Given the description of an element on the screen output the (x, y) to click on. 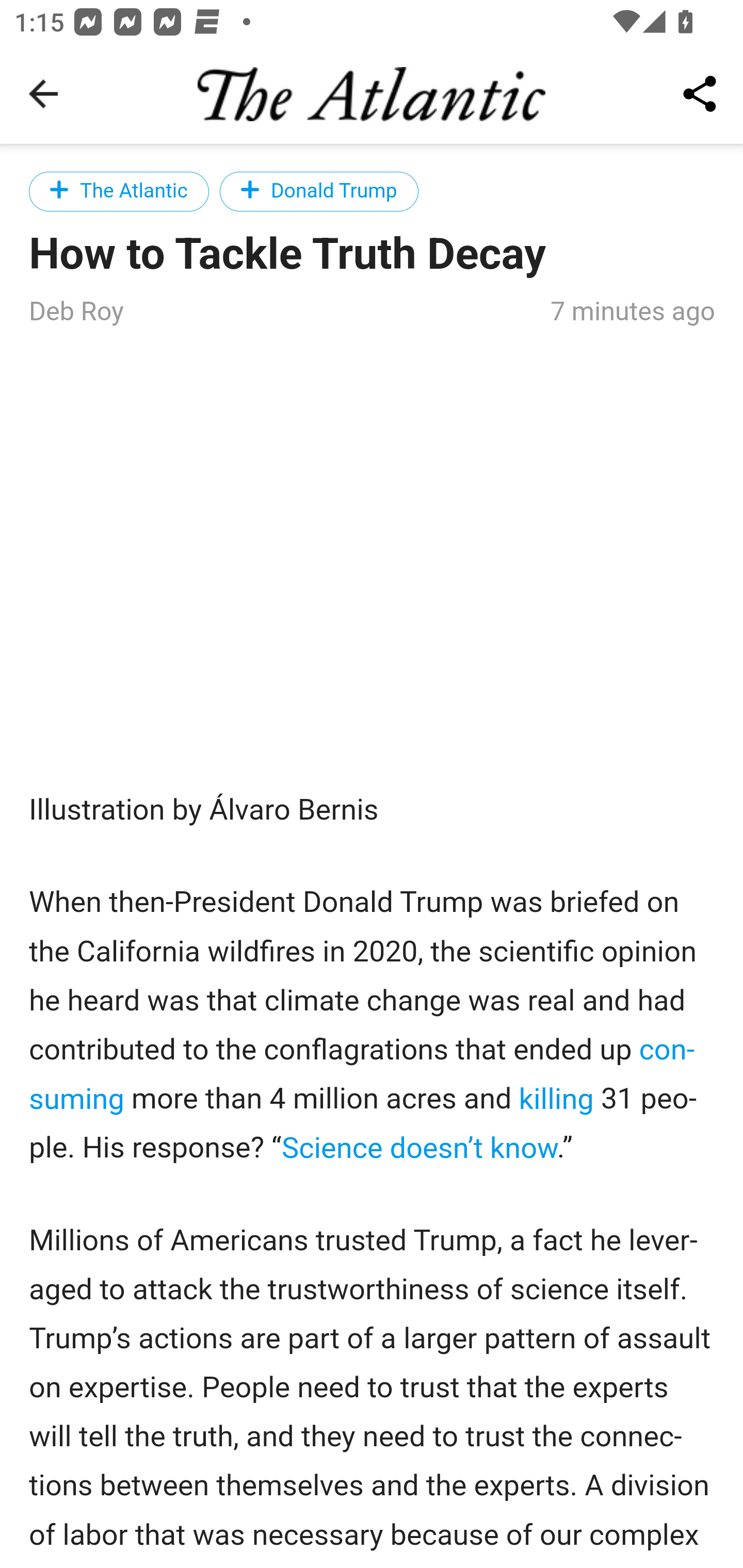
The Atlantic (118, 191)
Donald Trump (318, 191)
consuming (361, 1073)
killing (555, 1098)
Science doesn’t know (418, 1147)
